Given the description of an element on the screen output the (x, y) to click on. 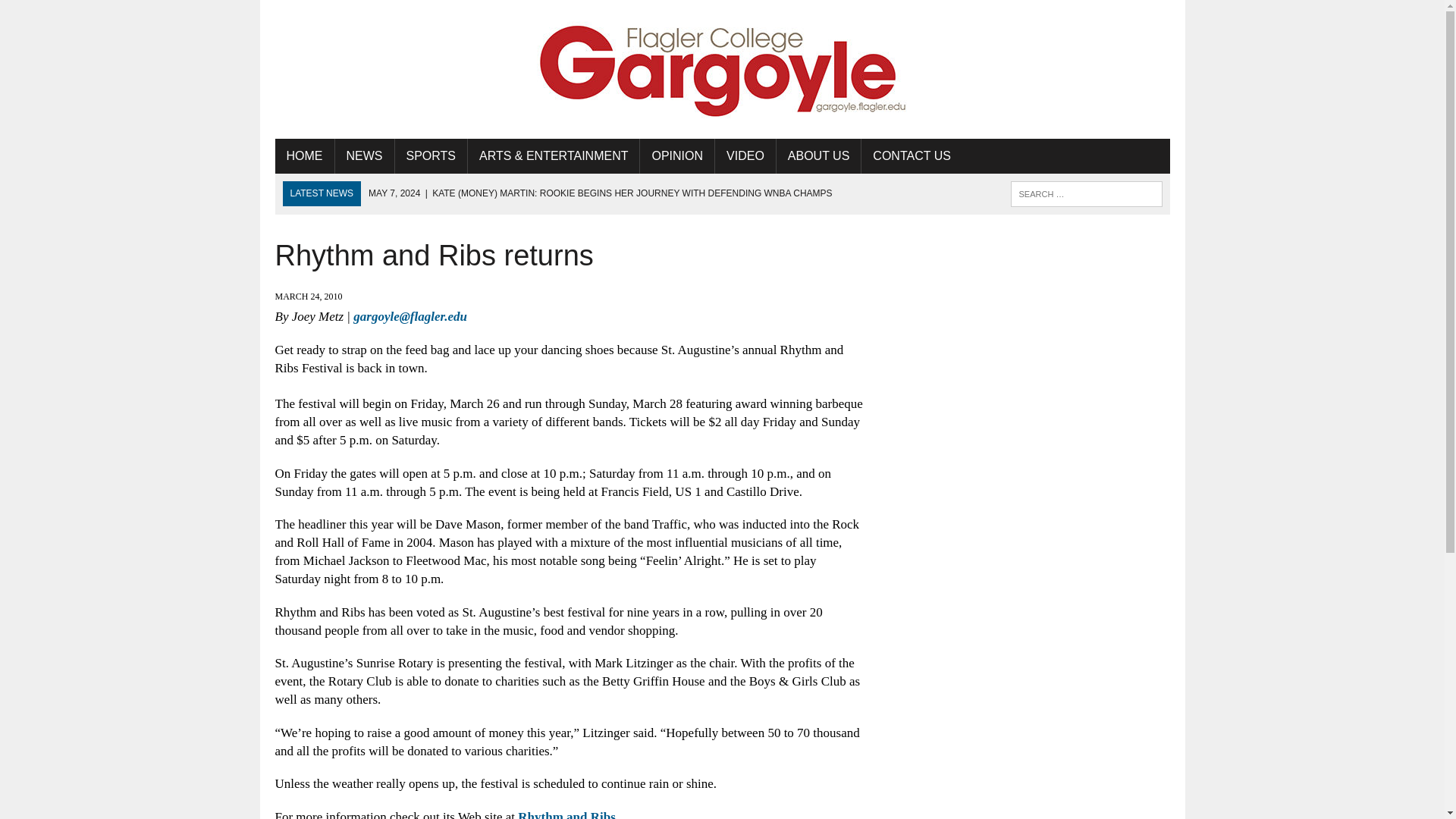
The Flagler College Gargoyle (722, 69)
Rhythm and Ribs (566, 814)
NEWS (364, 155)
OPINION (677, 155)
ABOUT US (818, 155)
CONTACT US (911, 155)
Search (75, 14)
SPORTS (430, 155)
VIDEO (745, 155)
HOME (304, 155)
